Given the description of an element on the screen output the (x, y) to click on. 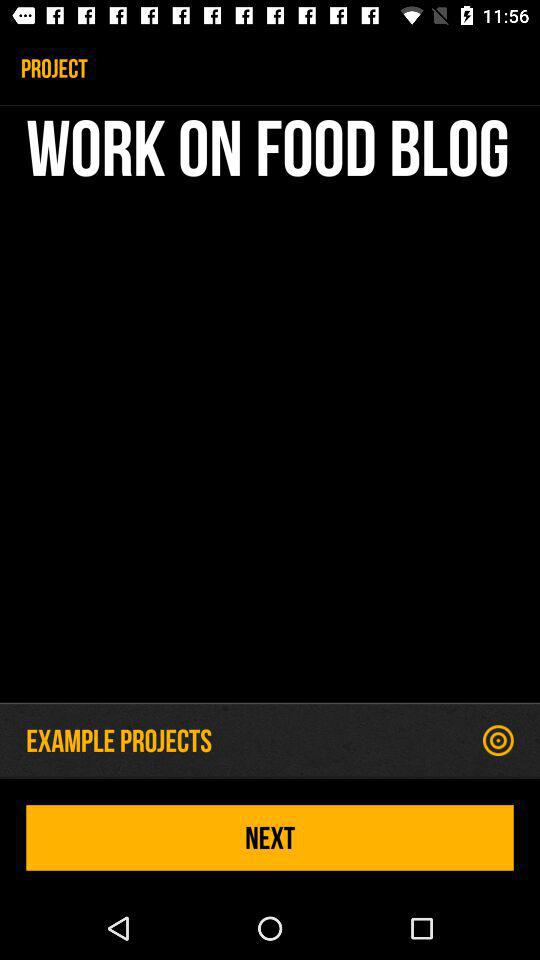
scroll to next item (269, 837)
